Given the description of an element on the screen output the (x, y) to click on. 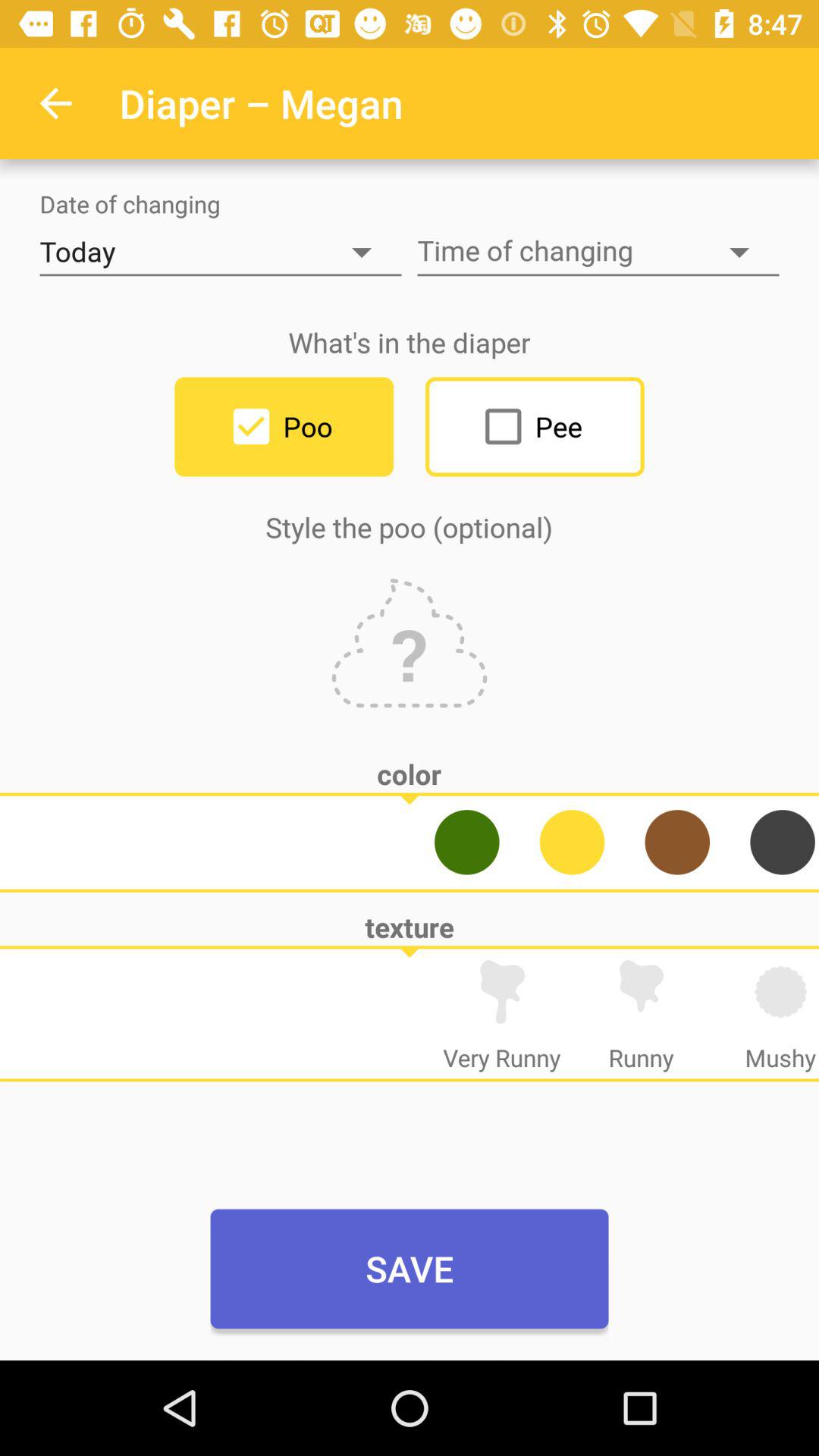
go to time of changing (598, 251)
